Given the description of an element on the screen output the (x, y) to click on. 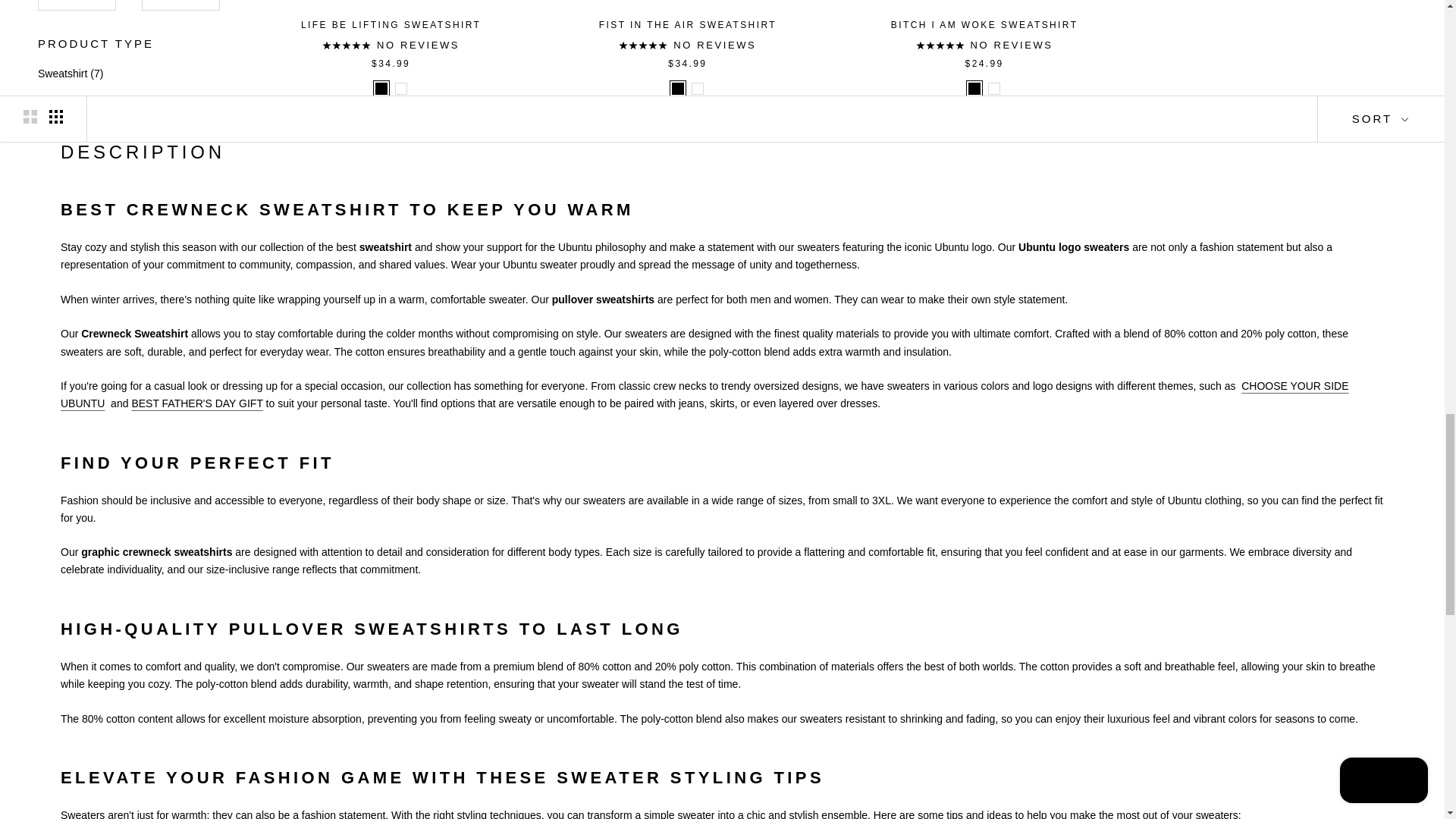
Black (677, 88)
Black (381, 88)
White (994, 88)
White (697, 88)
Black (973, 88)
White (400, 88)
